Given the description of an element on the screen output the (x, y) to click on. 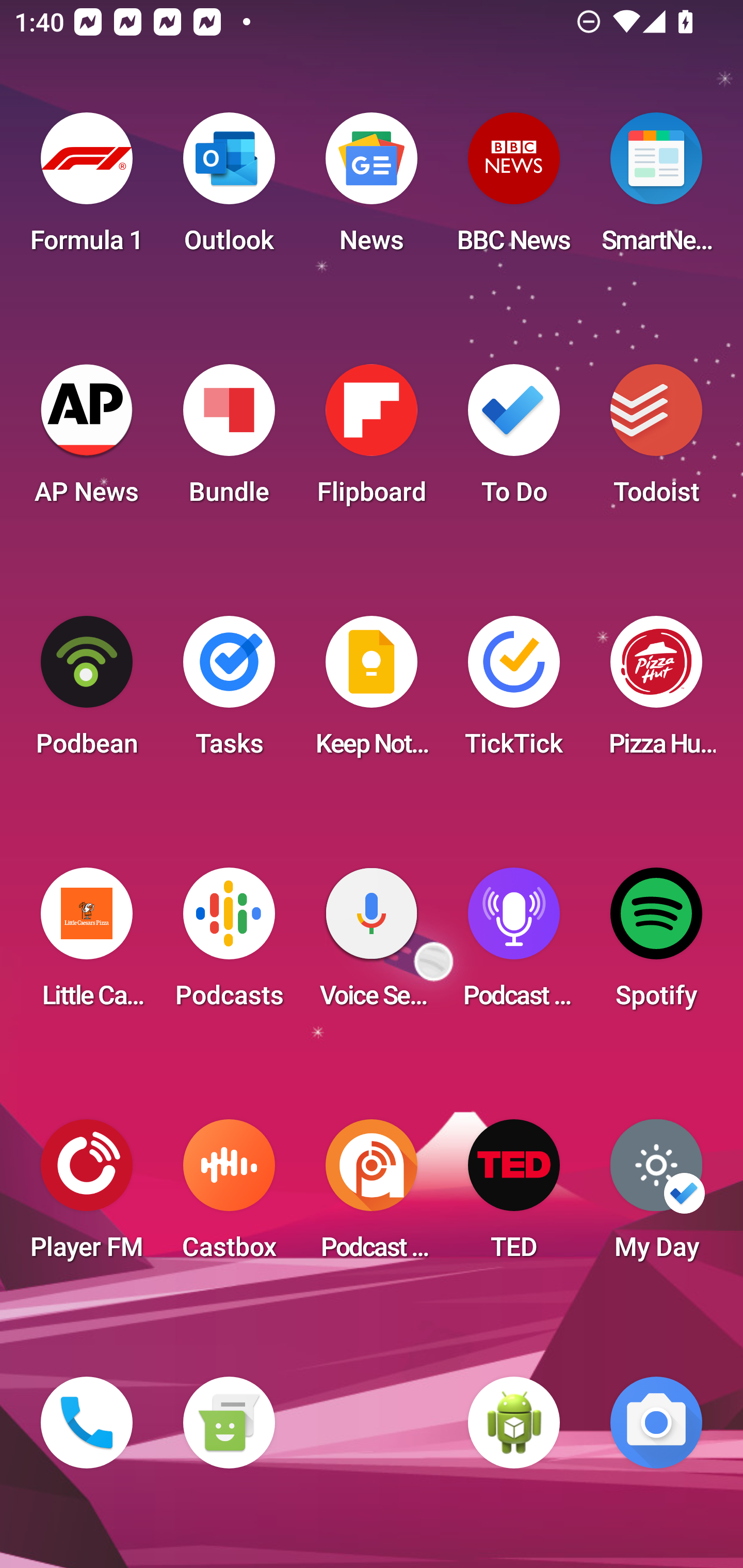
Formula 1 (86, 188)
Outlook (228, 188)
News (371, 188)
BBC News (513, 188)
SmartNews (656, 188)
AP News (86, 440)
Bundle (228, 440)
Flipboard (371, 440)
To Do (513, 440)
Todoist (656, 440)
Podbean (86, 692)
Tasks (228, 692)
Keep Notes (371, 692)
TickTick (513, 692)
Pizza Hut HK & Macau (656, 692)
Little Caesars Pizza (86, 943)
Podcasts (228, 943)
Voice Search (371, 943)
Podcast Player (513, 943)
Spotify (656, 943)
Player FM (86, 1195)
Castbox (228, 1195)
Podcast Addict (371, 1195)
TED (513, 1195)
My Day (656, 1195)
Phone (86, 1422)
Messaging (228, 1422)
WebView Browser Tester (513, 1422)
Camera (656, 1422)
